Given the description of an element on the screen output the (x, y) to click on. 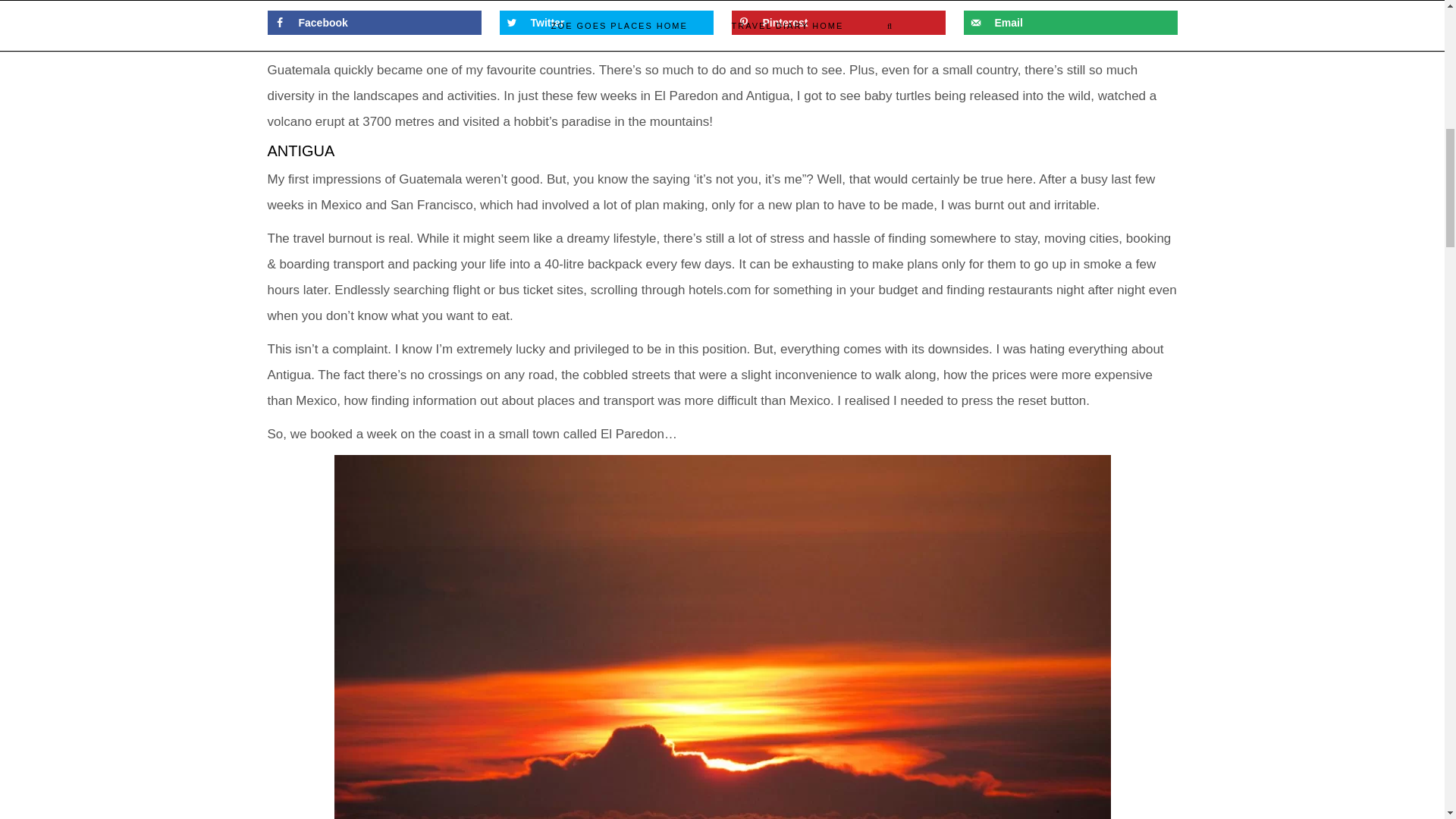
Share on Facebook (373, 22)
Twitter (606, 22)
Save to Pinterest (837, 22)
Facebook (373, 22)
Send over email (1069, 22)
Share on Twitter (606, 22)
Email (1069, 22)
Pinterest (837, 22)
